Given the description of an element on the screen output the (x, y) to click on. 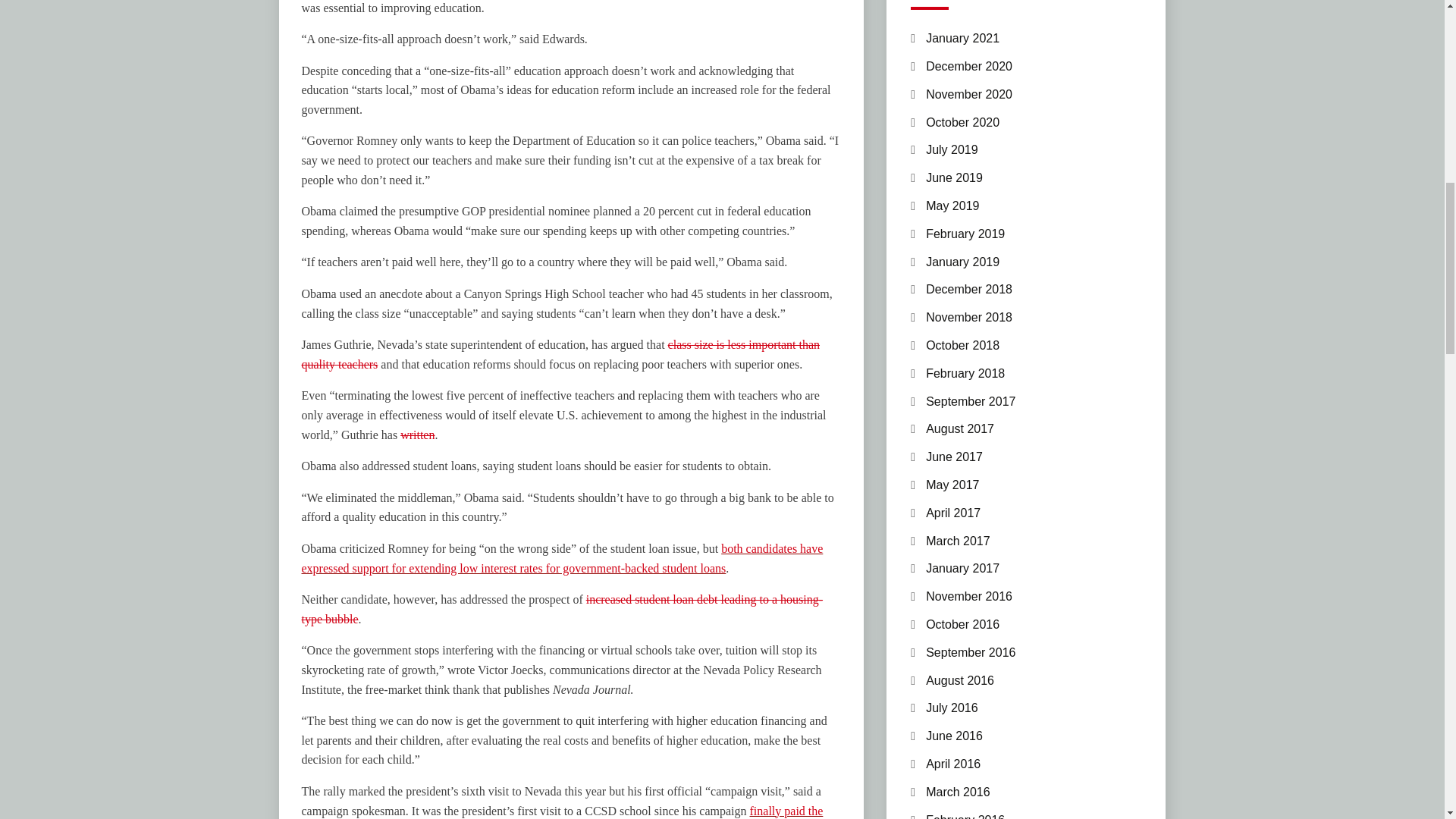
increased student loan debt leading to a housing-type bubble (562, 608)
class size is less important than quality teachers (561, 354)
finally paid the district for its overdue bills (562, 811)
written (416, 434)
